Given the description of an element on the screen output the (x, y) to click on. 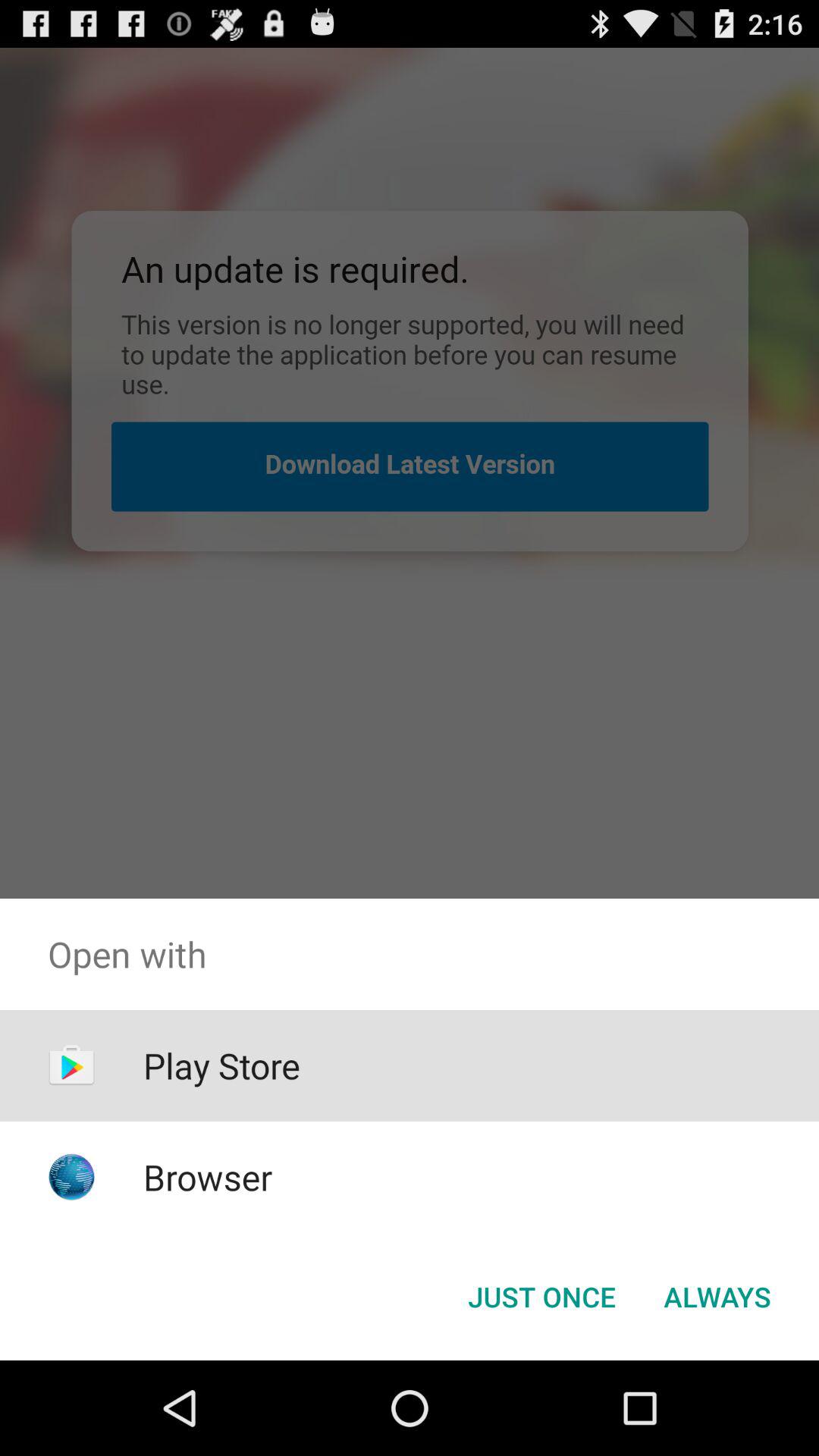
open just once icon (541, 1296)
